Given the description of an element on the screen output the (x, y) to click on. 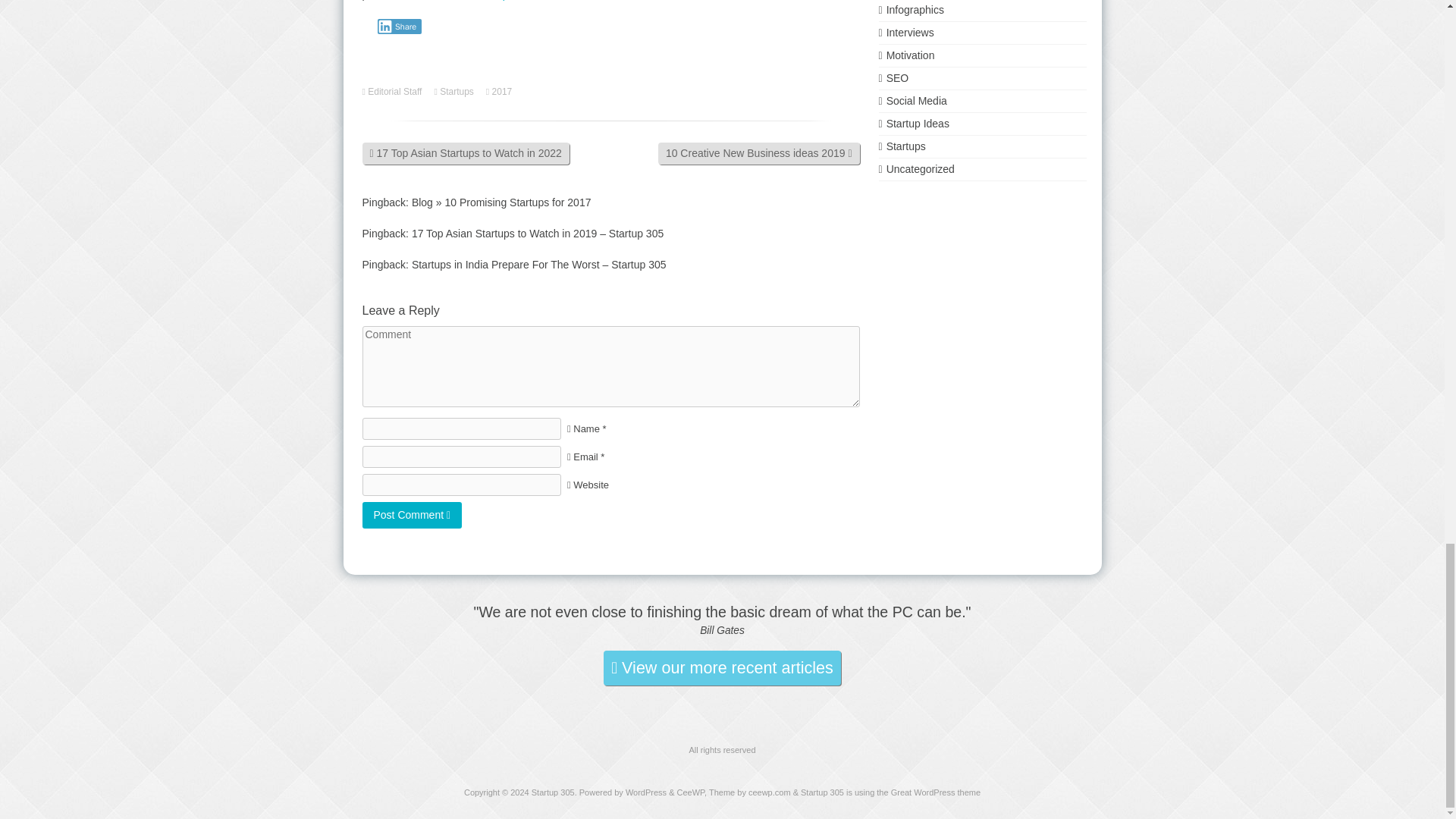
Startups (458, 91)
Editorial Staff (396, 91)
Startup 305 (553, 791)
Post Comment (412, 515)
10 Creative New Business ideas 2019 (759, 153)
2017 (503, 91)
17 Top Asian Startups to Watch in 2022 (465, 153)
Share (399, 26)
